Given the description of an element on the screen output the (x, y) to click on. 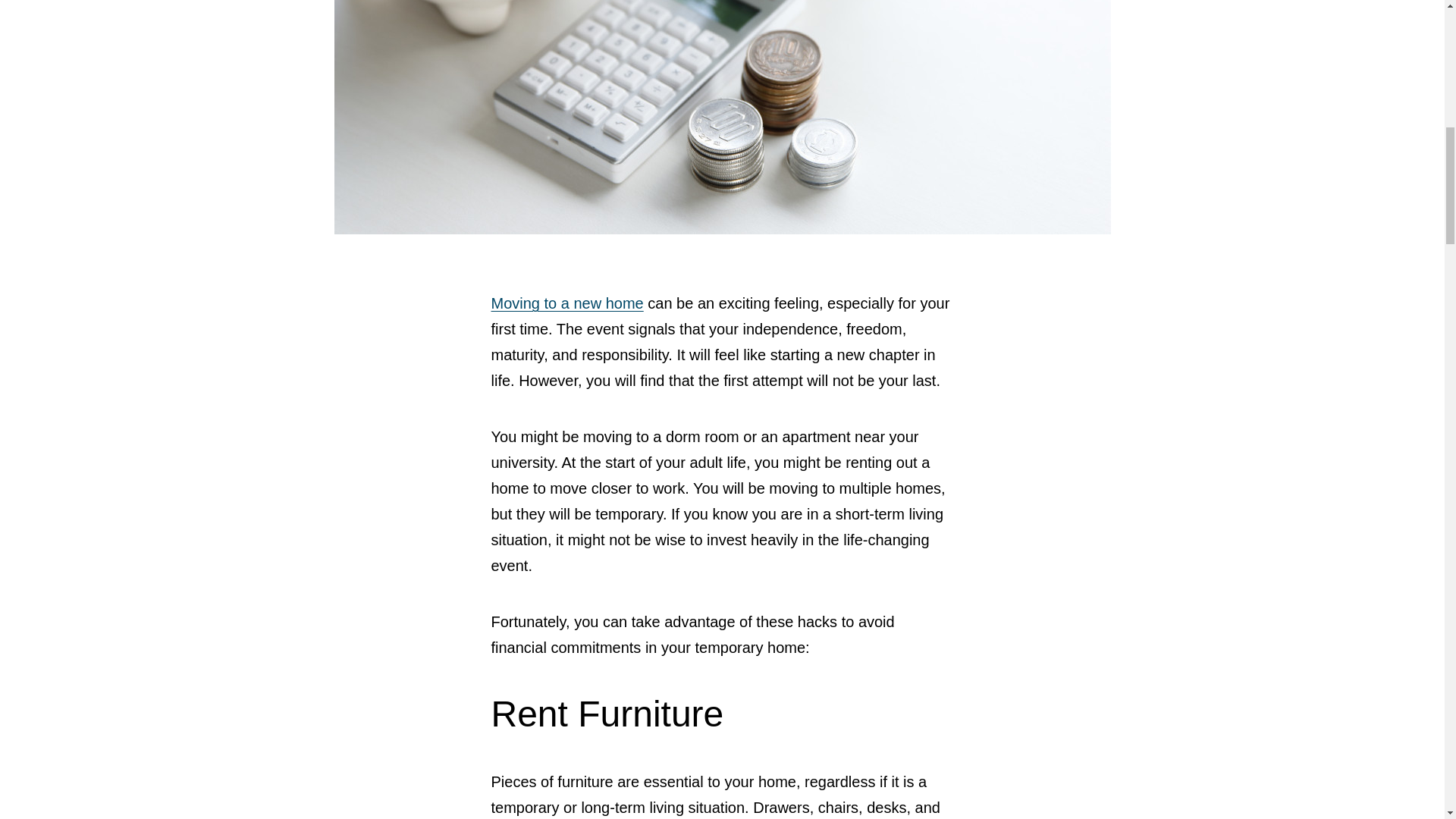
Moving to a new home (567, 303)
